Given the description of an element on the screen output the (x, y) to click on. 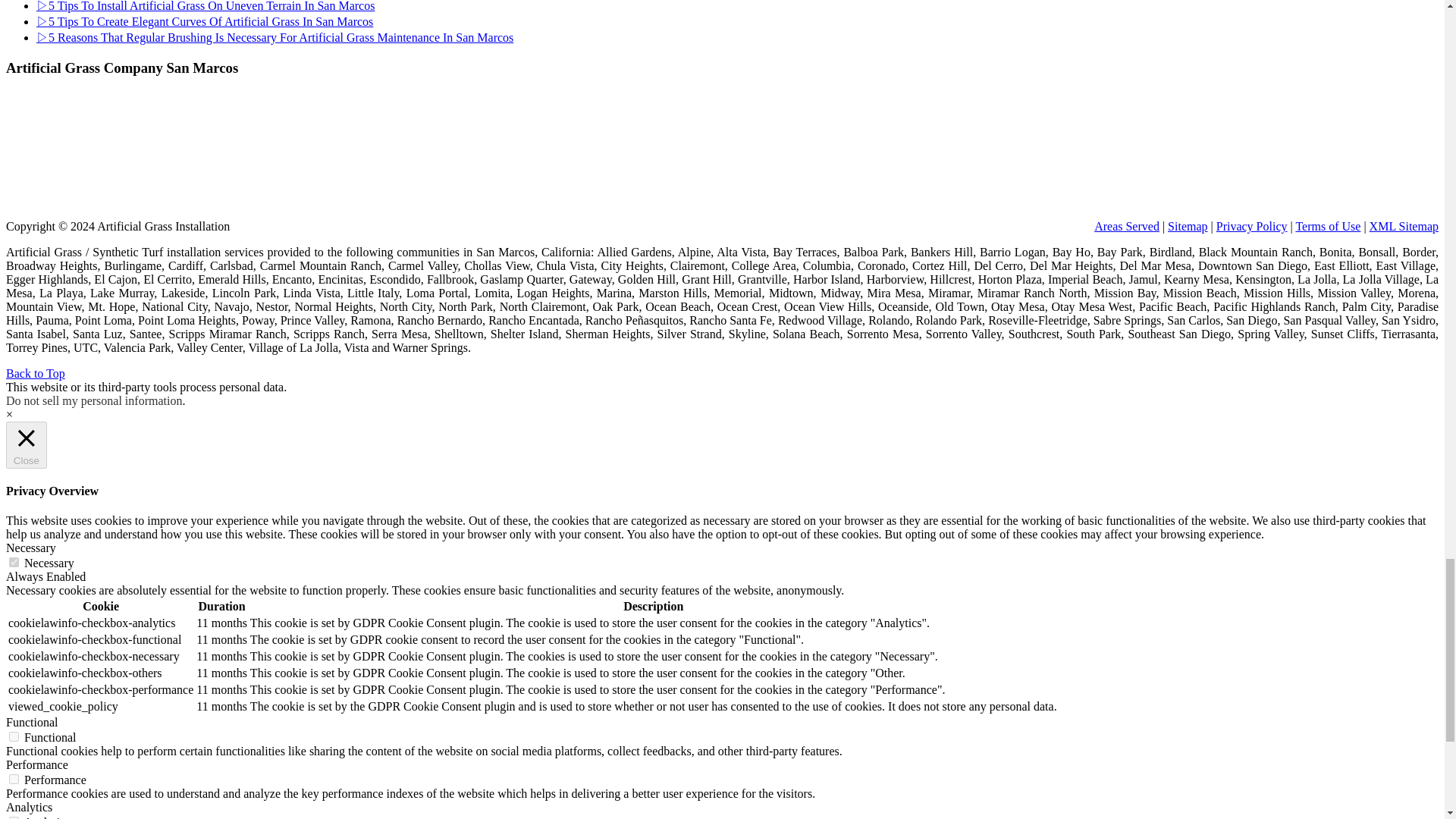
on (13, 562)
on (13, 778)
on (13, 737)
